Given the description of an element on the screen output the (x, y) to click on. 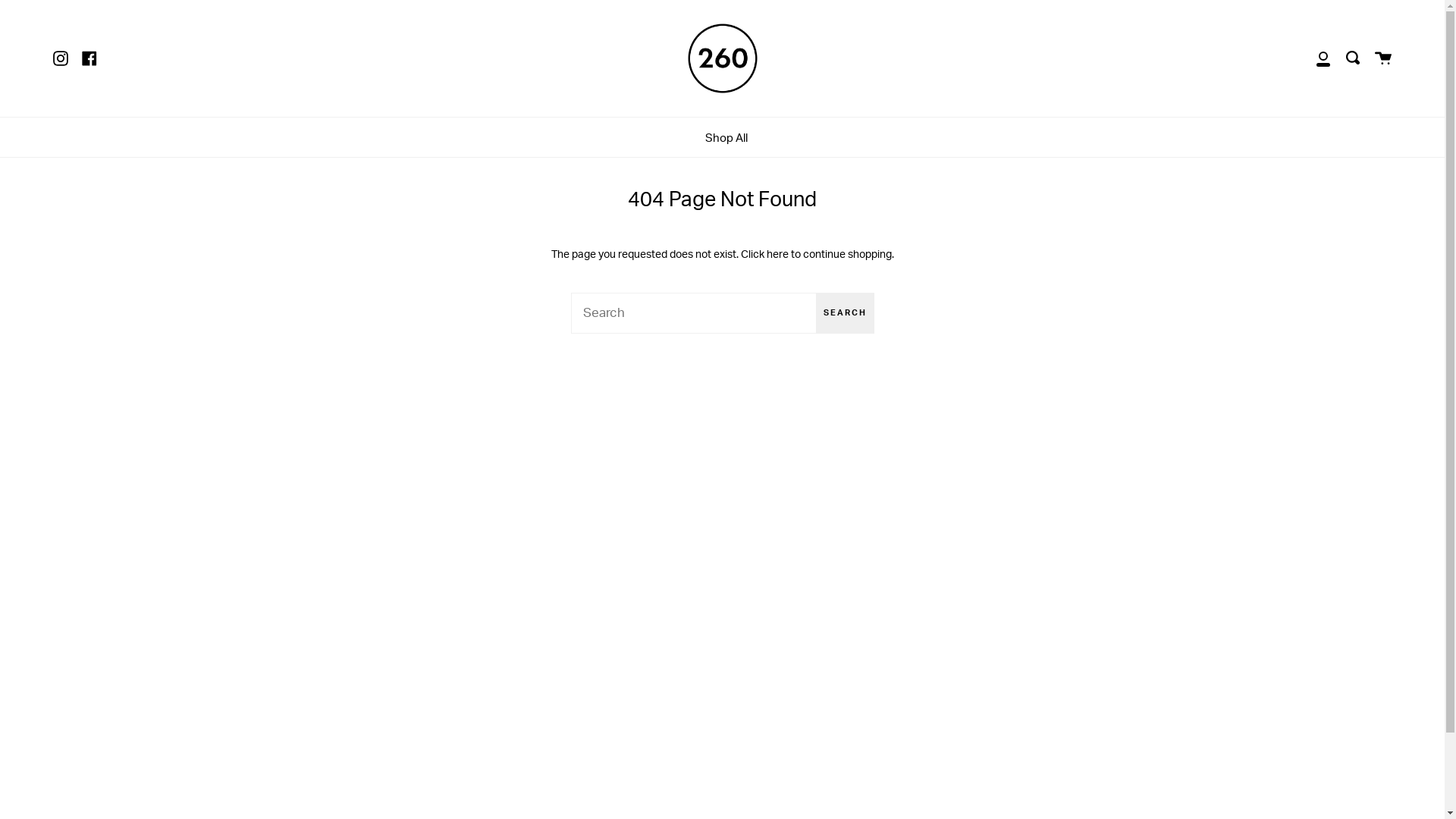
Cart Element type: text (1382, 58)
Search Element type: text (1352, 58)
here Element type: text (776, 254)
SEARCH Element type: text (844, 312)
Shop All Element type: text (726, 138)
Facebook Element type: text (89, 57)
My Account Element type: text (1322, 58)
Instagram Element type: text (60, 57)
